Given the description of an element on the screen output the (x, y) to click on. 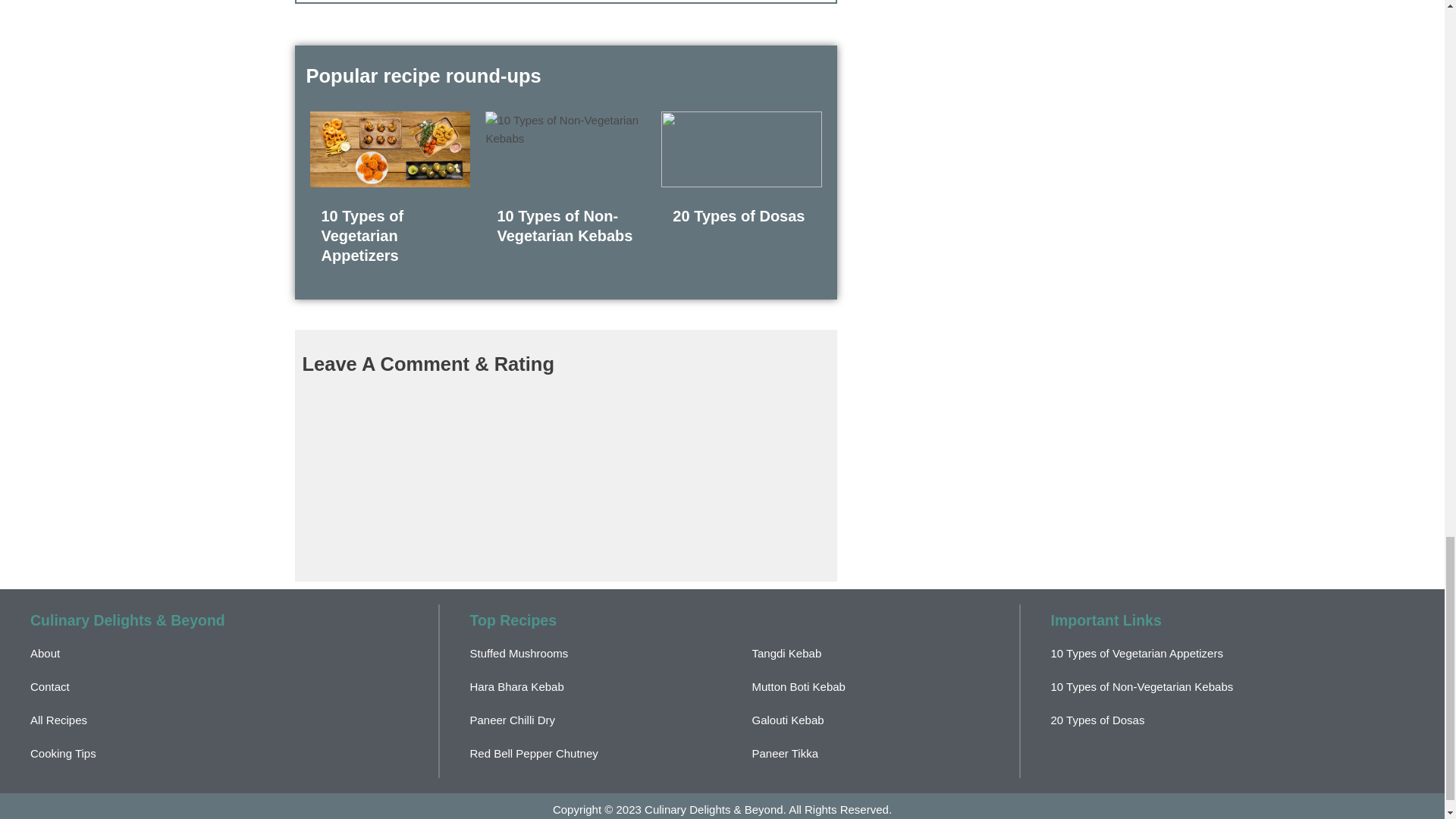
10 Types of Vegetarian Appetizers (362, 235)
10 Types of Vegetarian Appetizers (362, 235)
Galouti Kebab (788, 719)
Stuffed Mushrooms (519, 653)
Cooking Tips (63, 753)
Hara Bhara Kebab (517, 686)
Paneer Chilli Dry (513, 719)
Contact (49, 686)
About (44, 653)
10 Types of Non-Vegetarian Kebabs (563, 226)
